Given the description of an element on the screen output the (x, y) to click on. 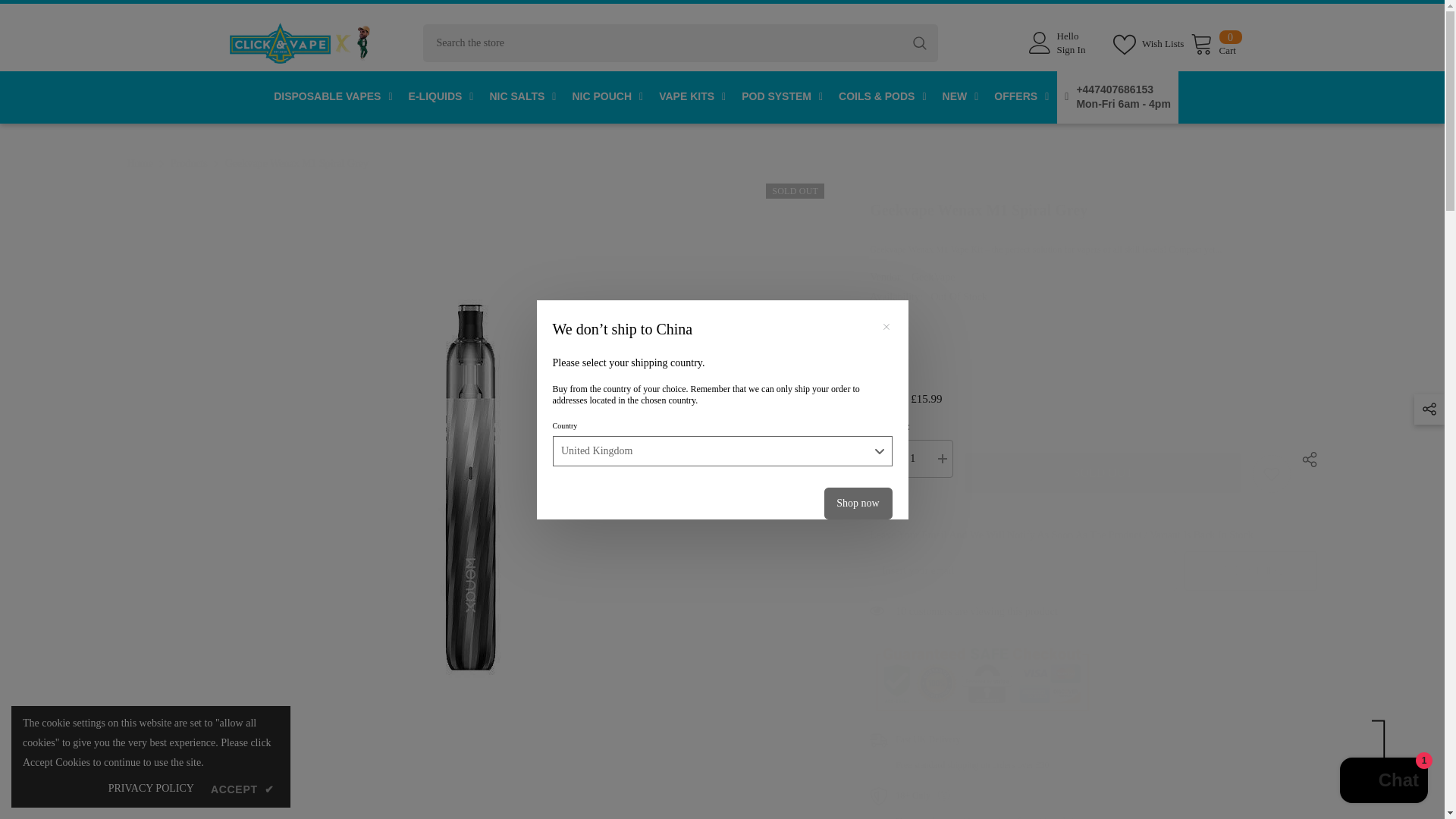
SHARE (1303, 459)
United Kingdom (721, 450)
10 customers are viewing this product (1093, 619)
Wish Lists (1216, 42)
SOLD OUT (1062, 42)
Geekvape Wenax M1 Spiral Grey (1149, 42)
1 (1102, 473)
DISPOSABLE VAPES (1093, 214)
DISPOSABLE VAPES (722, 163)
Shop now (911, 458)
SOLD OUT (332, 97)
